Given the description of an element on the screen output the (x, y) to click on. 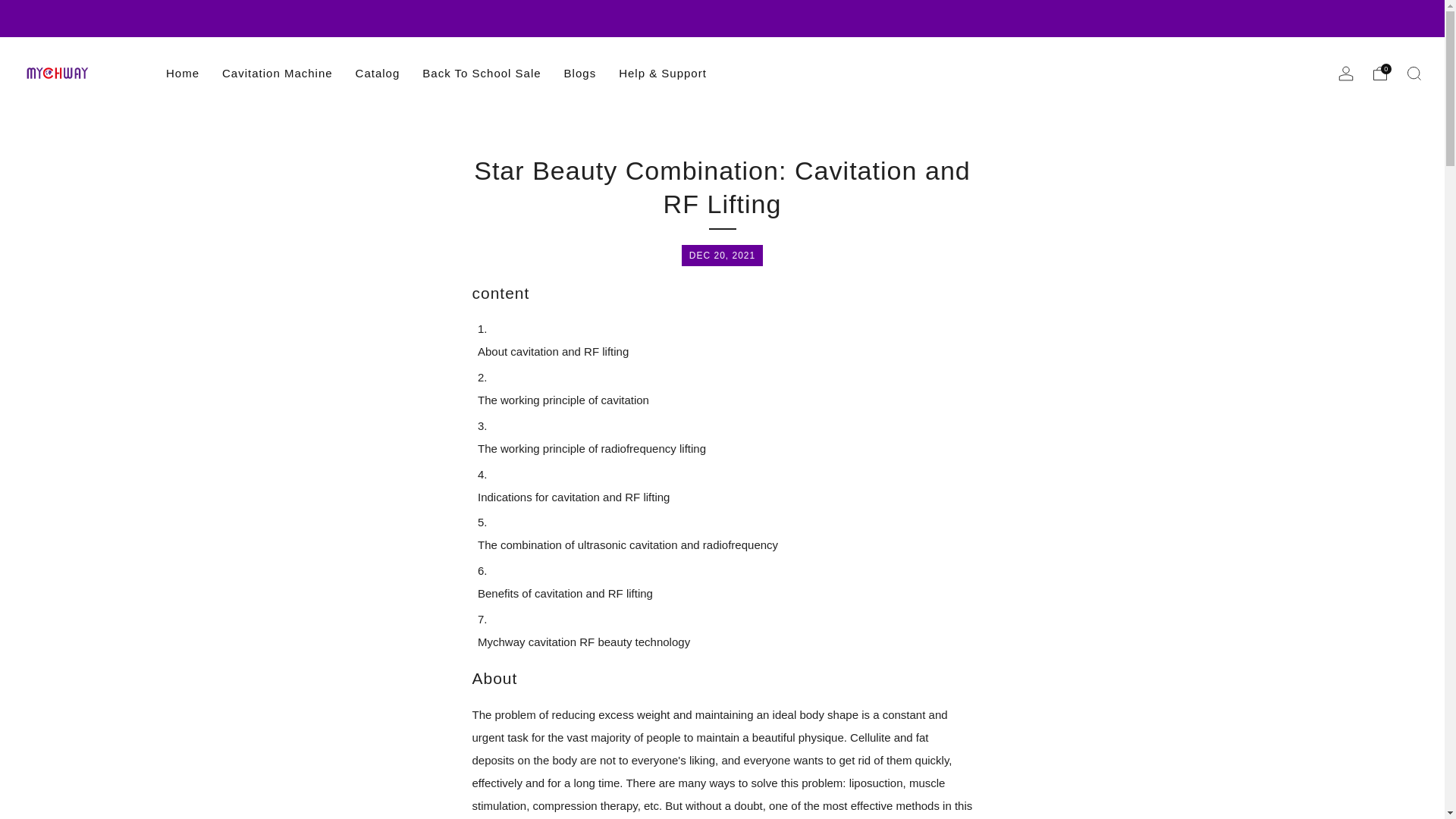
Home (182, 72)
Catalog (377, 72)
Customer reviews powered by Trustpilot (826, 69)
Cavitation Machine (277, 72)
